Given the description of an element on the screen output the (x, y) to click on. 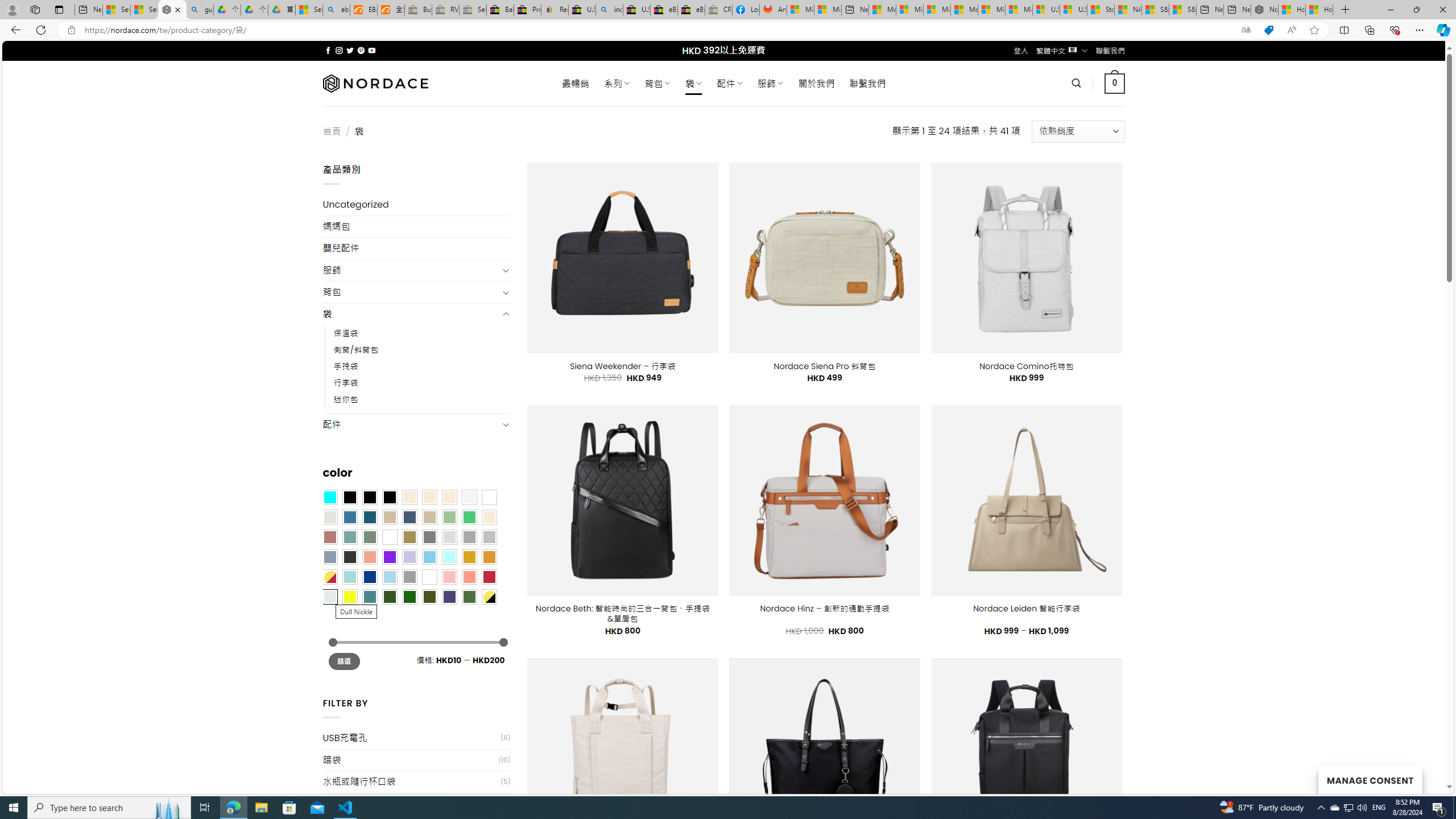
Register: Create a personal eBay account (554, 9)
including - Search (609, 9)
Press Room - eBay Inc. (527, 9)
